Given the description of an element on the screen output the (x, y) to click on. 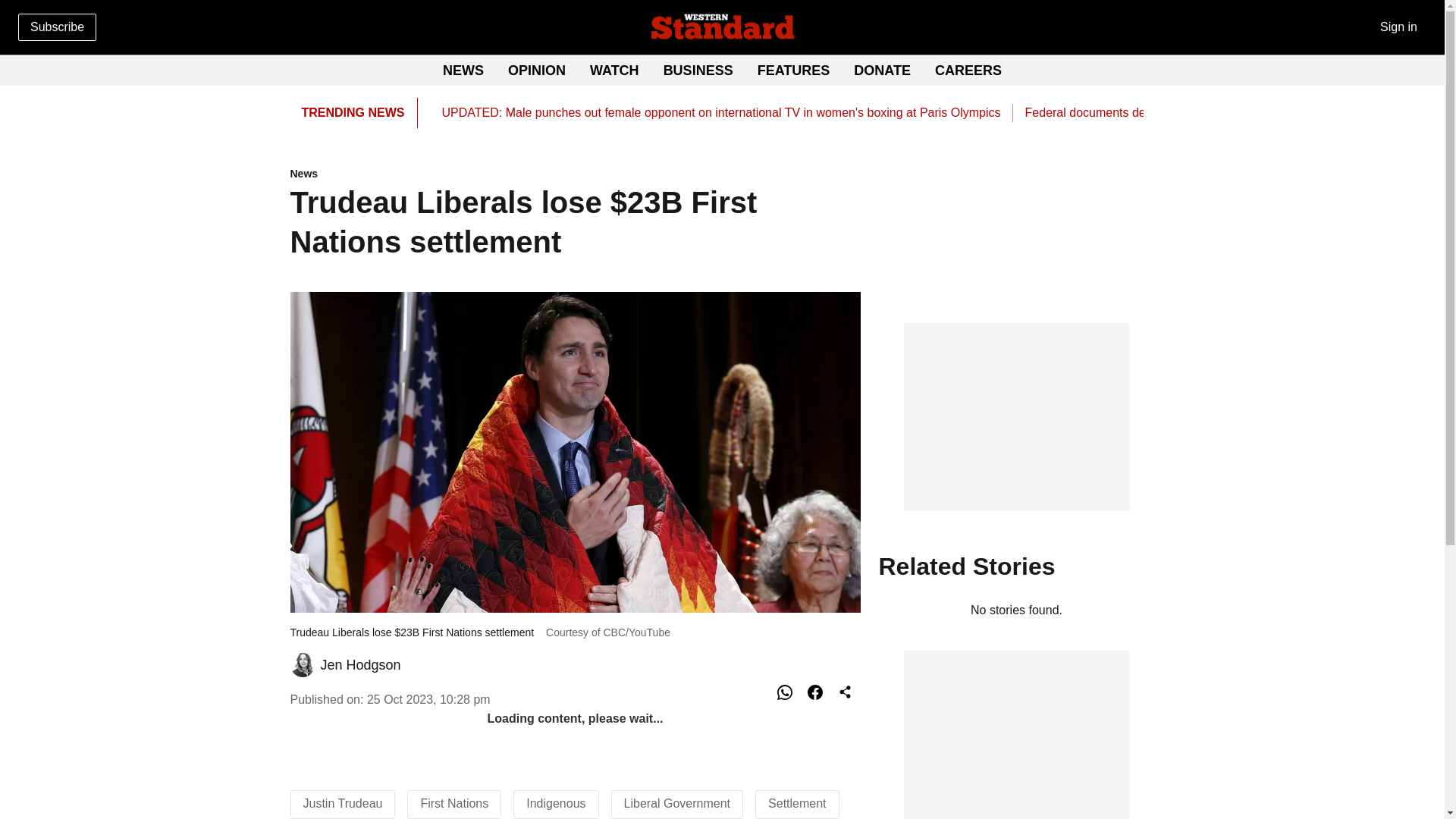
FEATURES (721, 70)
CAREERS (793, 70)
BUSINESS (967, 70)
DONATE (698, 70)
News (882, 70)
WATCH (574, 174)
